Given the description of an element on the screen output the (x, y) to click on. 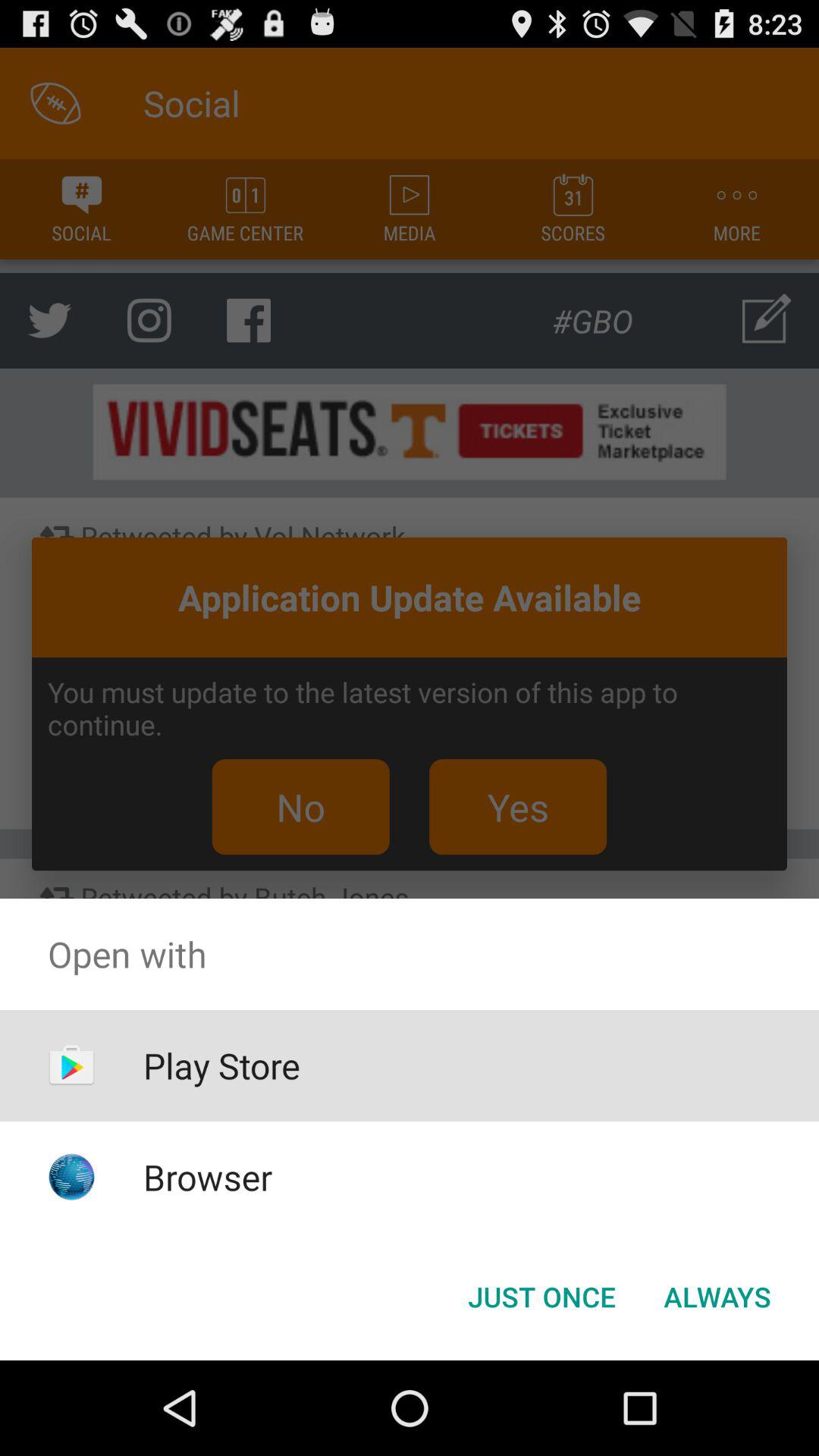
click app below open with (717, 1296)
